Given the description of an element on the screen output the (x, y) to click on. 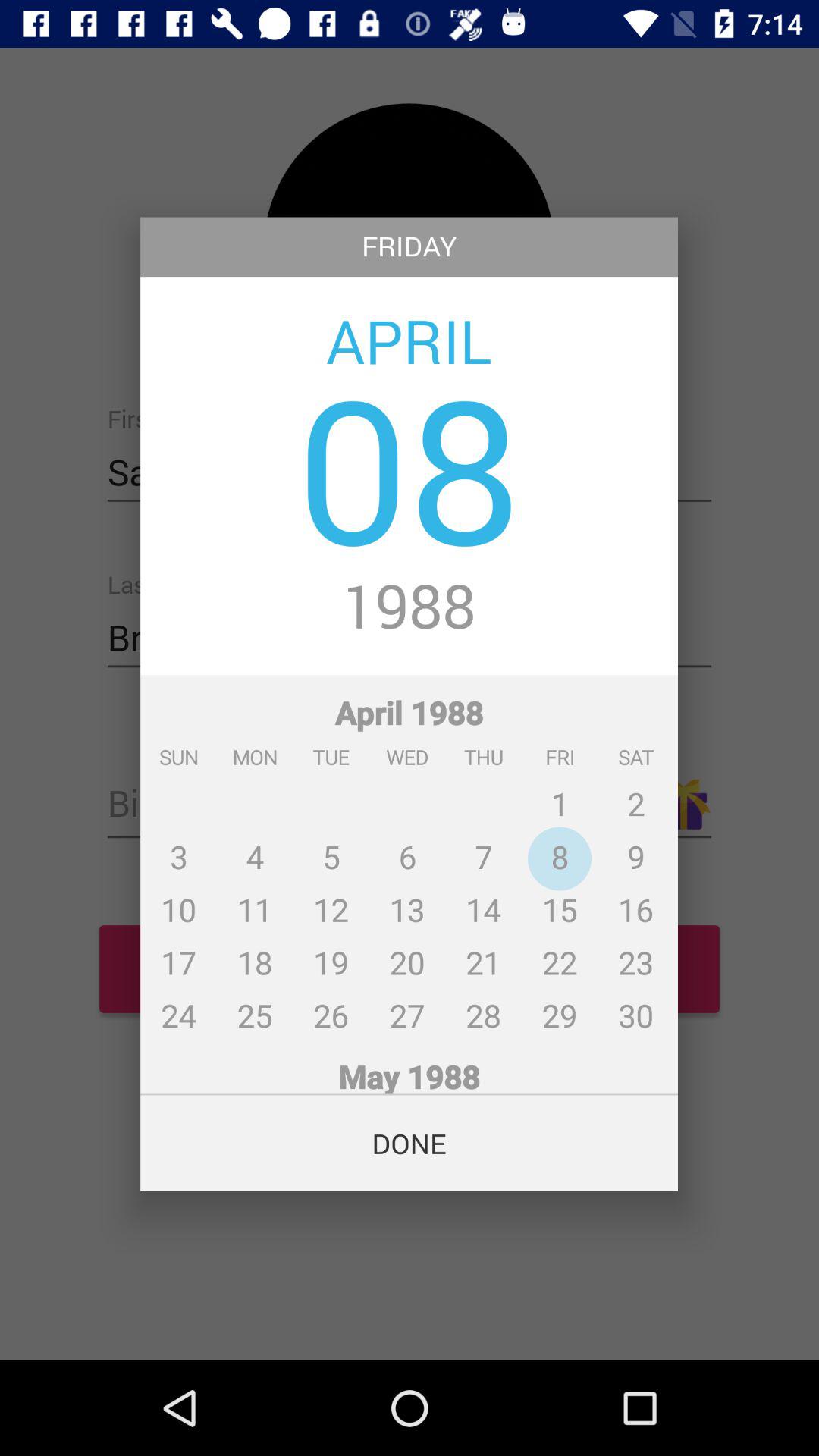
tap the icon below 08 icon (408, 608)
